Given the description of an element on the screen output the (x, y) to click on. 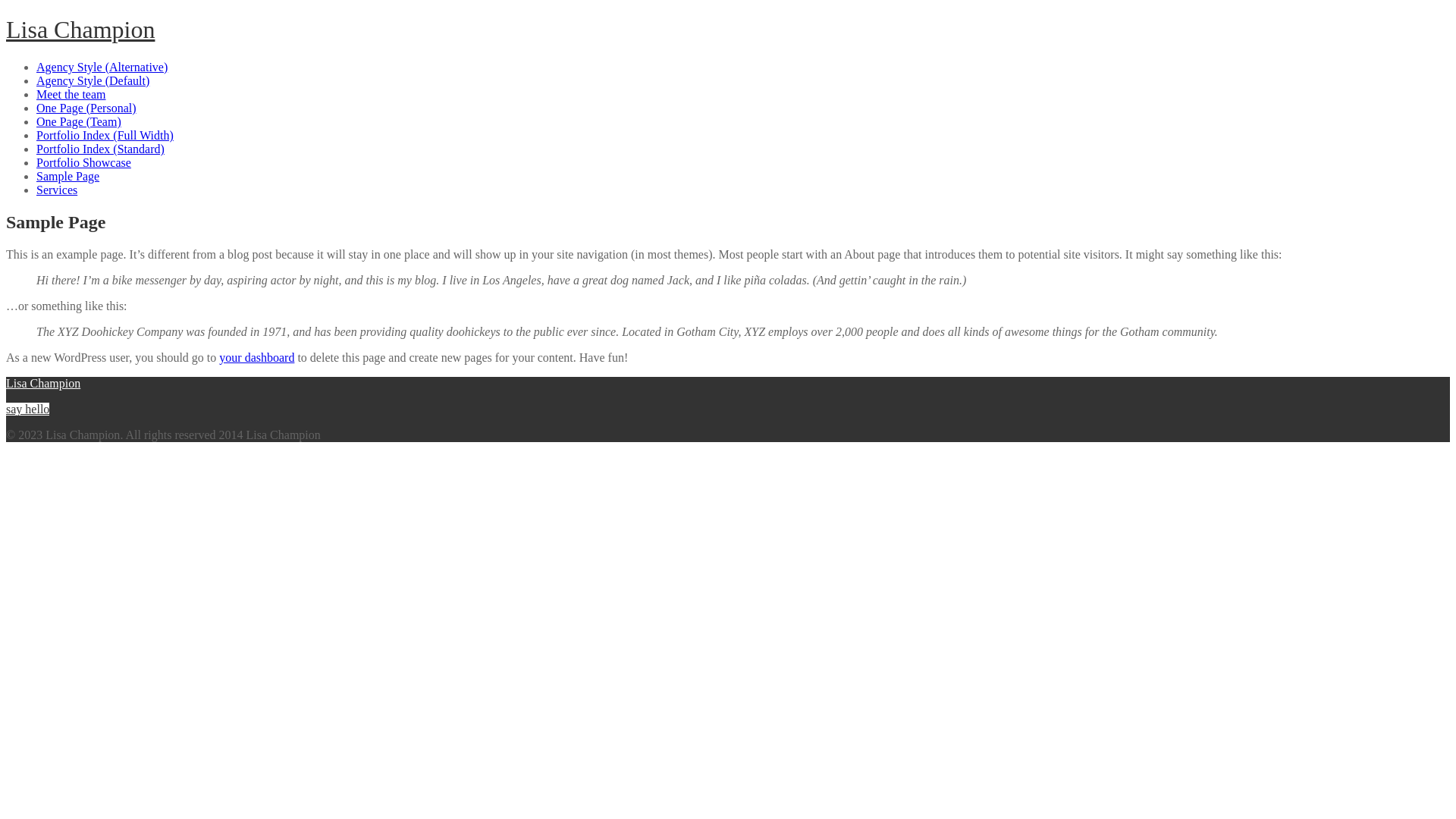
One Page (Team) Element type: text (78, 121)
One Page (Personal) Element type: text (86, 107)
say hello Element type: text (27, 408)
Sample Page Element type: text (67, 175)
Services Element type: text (56, 189)
Meet the team Element type: text (71, 93)
Portfolio Index (Standard) Element type: text (100, 148)
Agency Style (Default) Element type: text (92, 80)
Lisa Champion Element type: text (43, 382)
Agency Style (Alternative) Element type: text (101, 66)
Lisa Champion Element type: text (80, 29)
Portfolio Index (Full Width) Element type: text (104, 134)
your dashboard Element type: text (256, 357)
Portfolio Showcase Element type: text (83, 162)
